Given the description of an element on the screen output the (x, y) to click on. 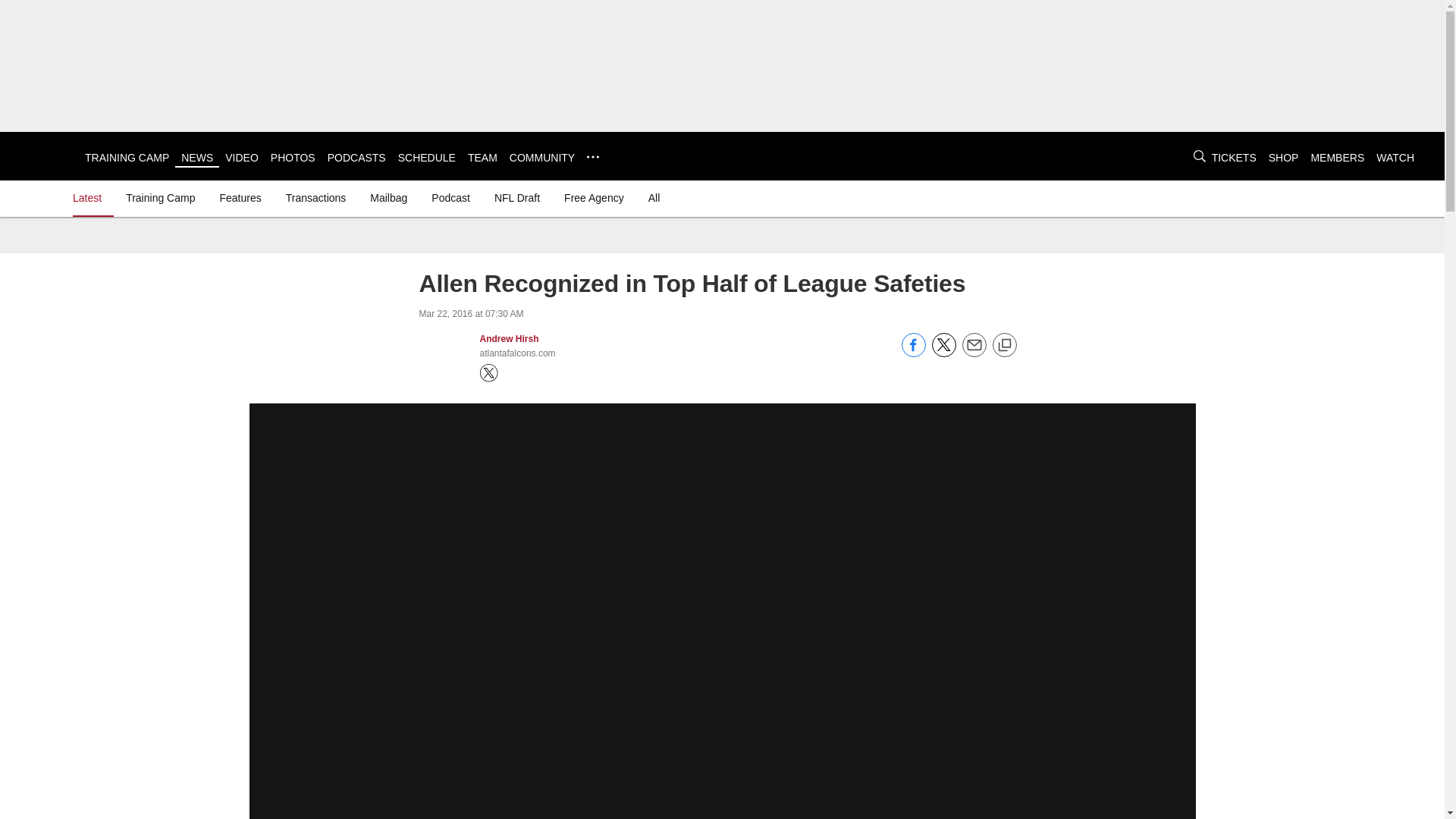
SCHEDULE (426, 157)
TEAM (482, 157)
VIDEO (242, 157)
PODCASTS (356, 157)
MEMBERS (1337, 157)
TEAM (482, 157)
Podcast (450, 197)
... (592, 156)
SHOP (1283, 157)
NEWS (196, 157)
SCHEDULE (426, 157)
PHOTOS (292, 157)
Features (239, 197)
COMMUNITY (542, 157)
Training Camp (159, 197)
